Given the description of an element on the screen output the (x, y) to click on. 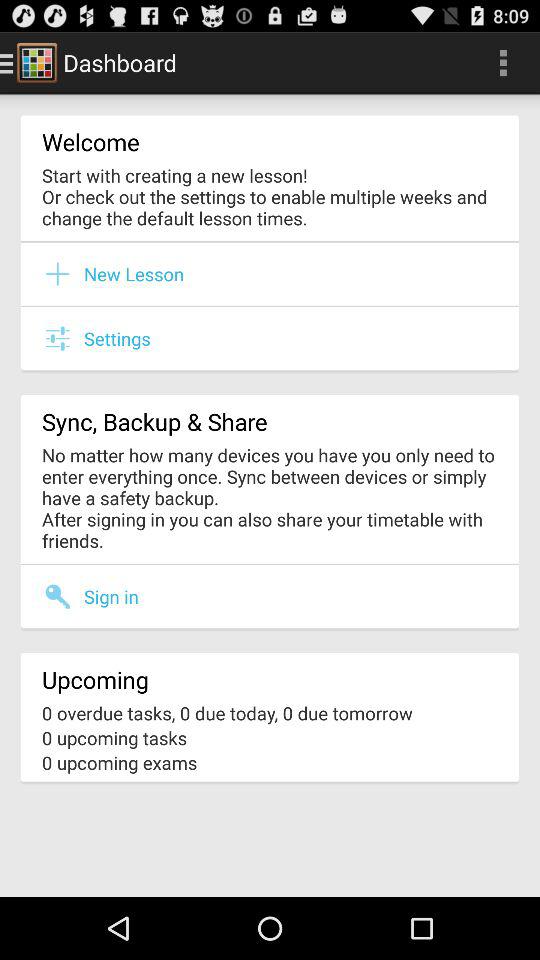
turn on the start with creating item (269, 196)
